Given the description of an element on the screen output the (x, y) to click on. 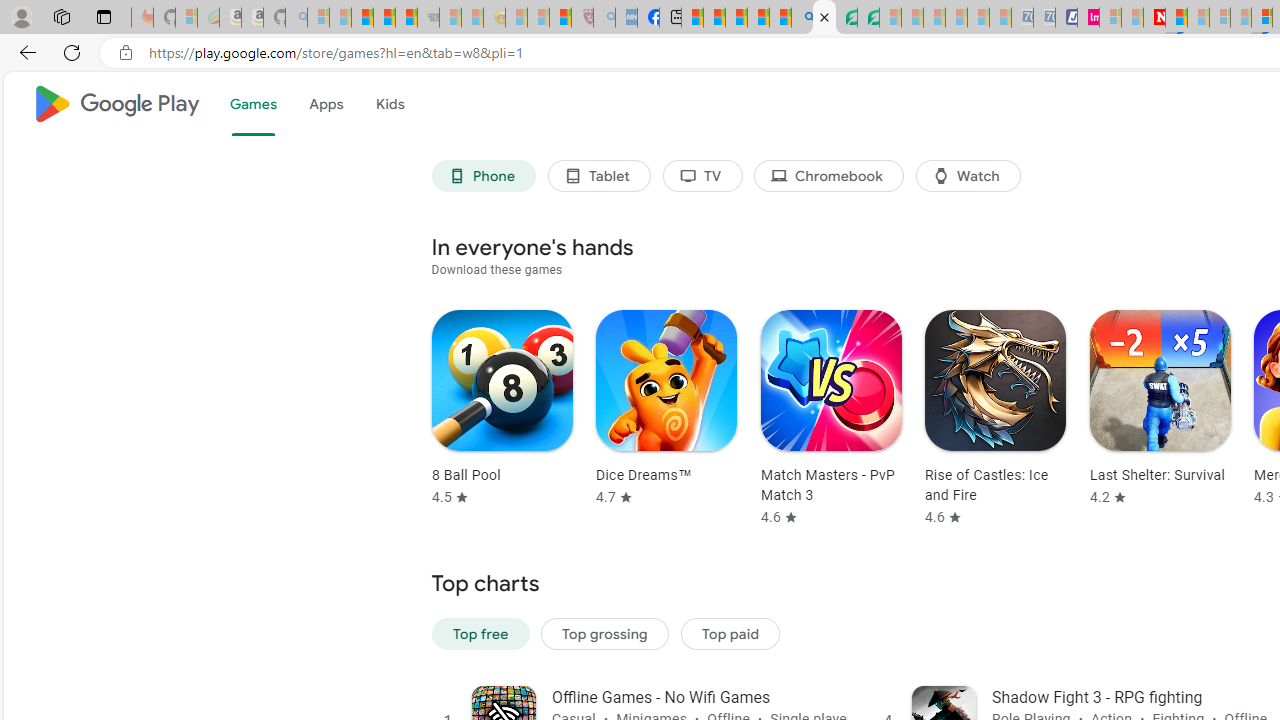
New Report Confirms 2023 Was Record Hot | Watch (406, 17)
Google Play logo (115, 104)
Microsoft account | Privacy - Sleeping (1110, 17)
Watch (968, 175)
Tablet (598, 175)
14 Common Myths Debunked By Scientific Facts - Sleeping (1198, 17)
8 Ball Pool4.5 (495, 418)
Last Shelter: Survival Rated 4.2 stars out of five stars (1160, 409)
